Given the description of an element on the screen output the (x, y) to click on. 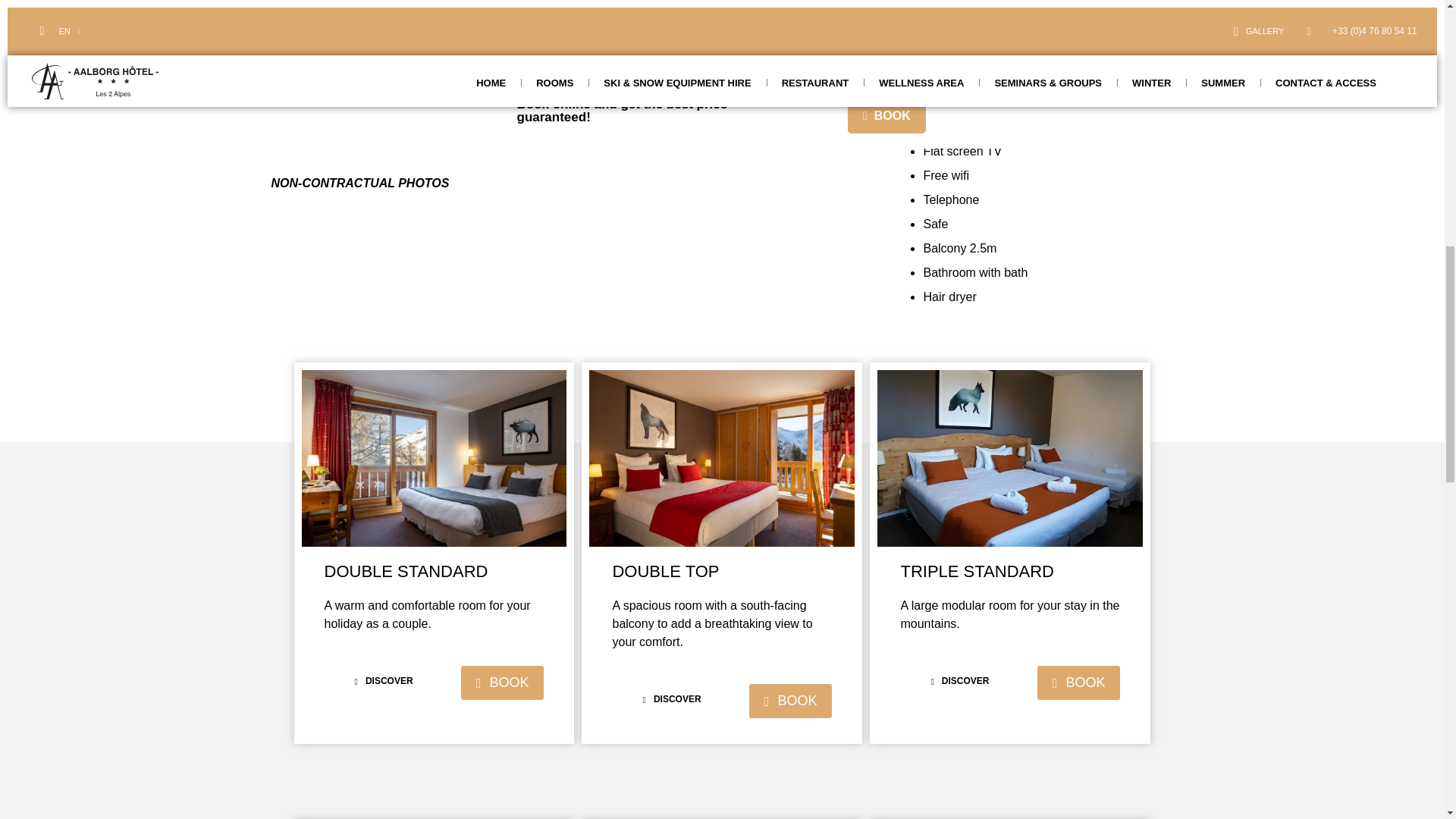
hotel les deux alpes (1009, 458)
